Given the description of an element on the screen output the (x, y) to click on. 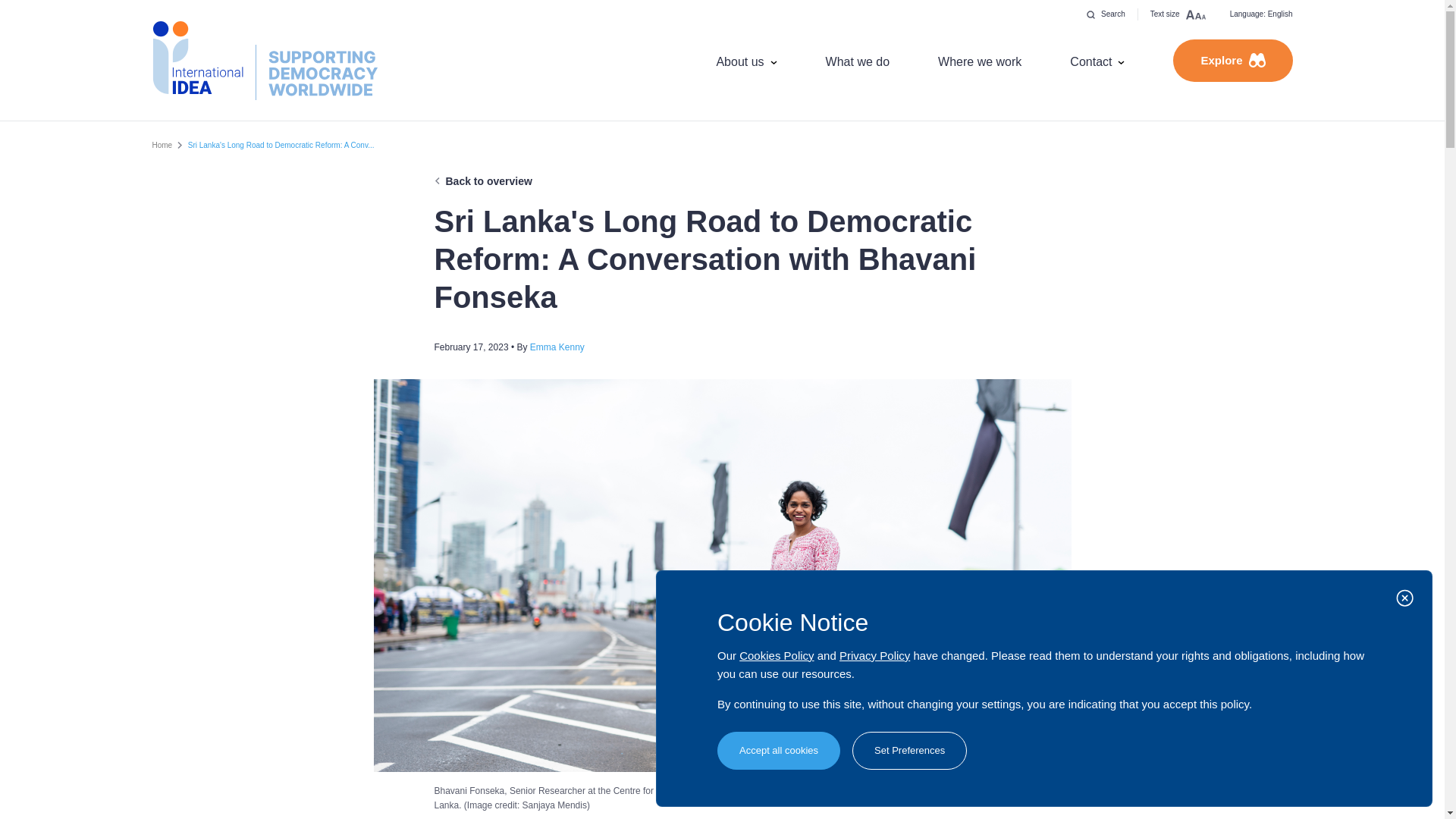
About us (746, 60)
What we do (857, 61)
Contact (1097, 60)
Where we work (979, 61)
Language: English (1260, 14)
Search (1106, 14)
Text size (1177, 14)
